Given the description of an element on the screen output the (x, y) to click on. 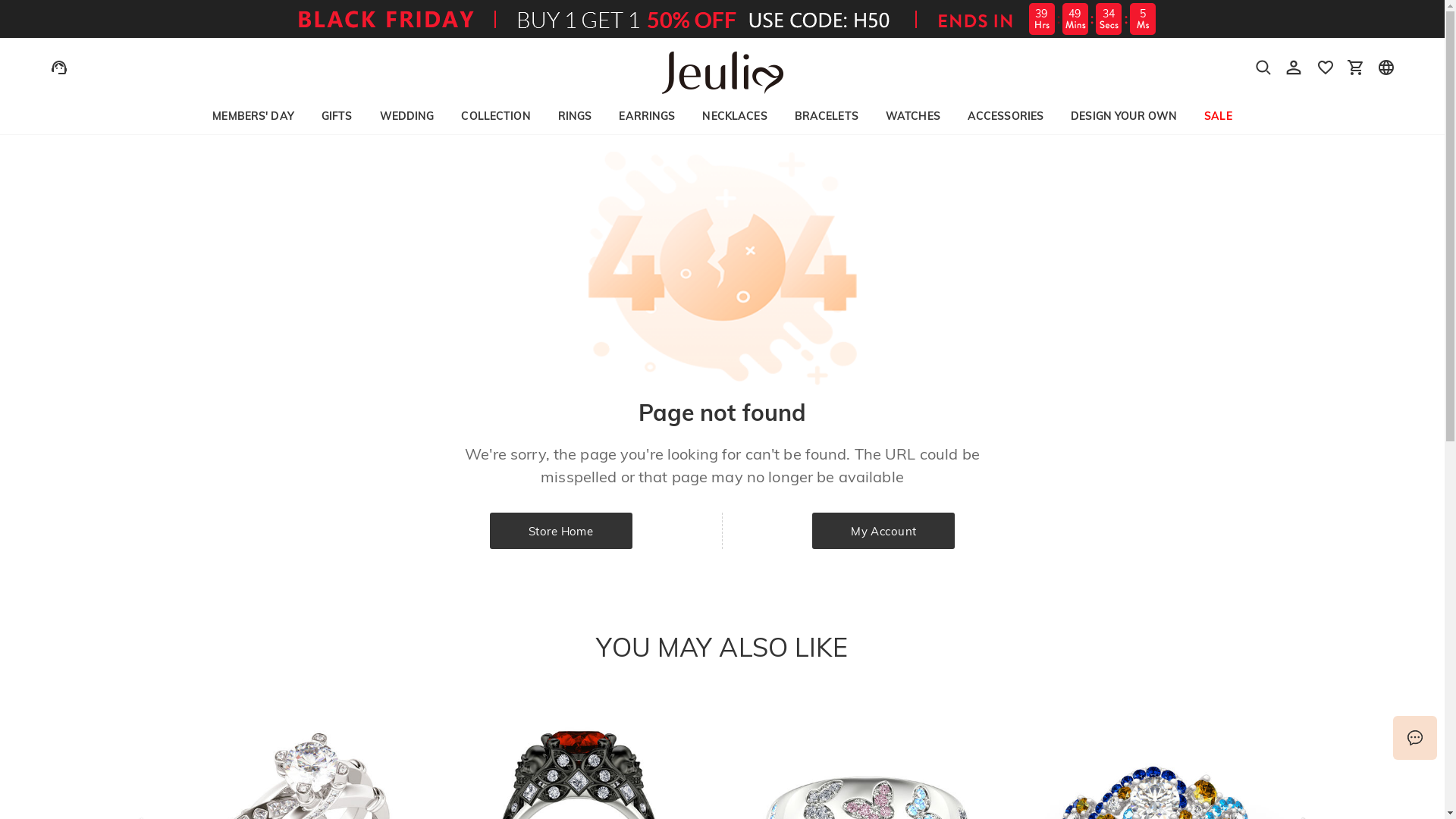
WATCHES Element type: text (912, 115)
BRACELETS Element type: text (826, 115)
WEDDING Element type: text (406, 115)
COLLECTION Element type: text (495, 115)
SALE Element type: text (1217, 115)
NECKLACES Element type: text (734, 115)
Store Home Element type: text (560, 530)
MEMBERS' DAY Element type: text (252, 115)
ACCESSORIES Element type: text (1005, 115)
EARRINGS Element type: text (646, 115)
RINGS Element type: text (574, 115)
GIFTS Element type: text (336, 115)
My Account Element type: text (883, 530)
DESIGN YOUR OWN Element type: text (1123, 115)
39
49
41
4 Element type: text (722, 18)
